Given the description of an element on the screen output the (x, y) to click on. 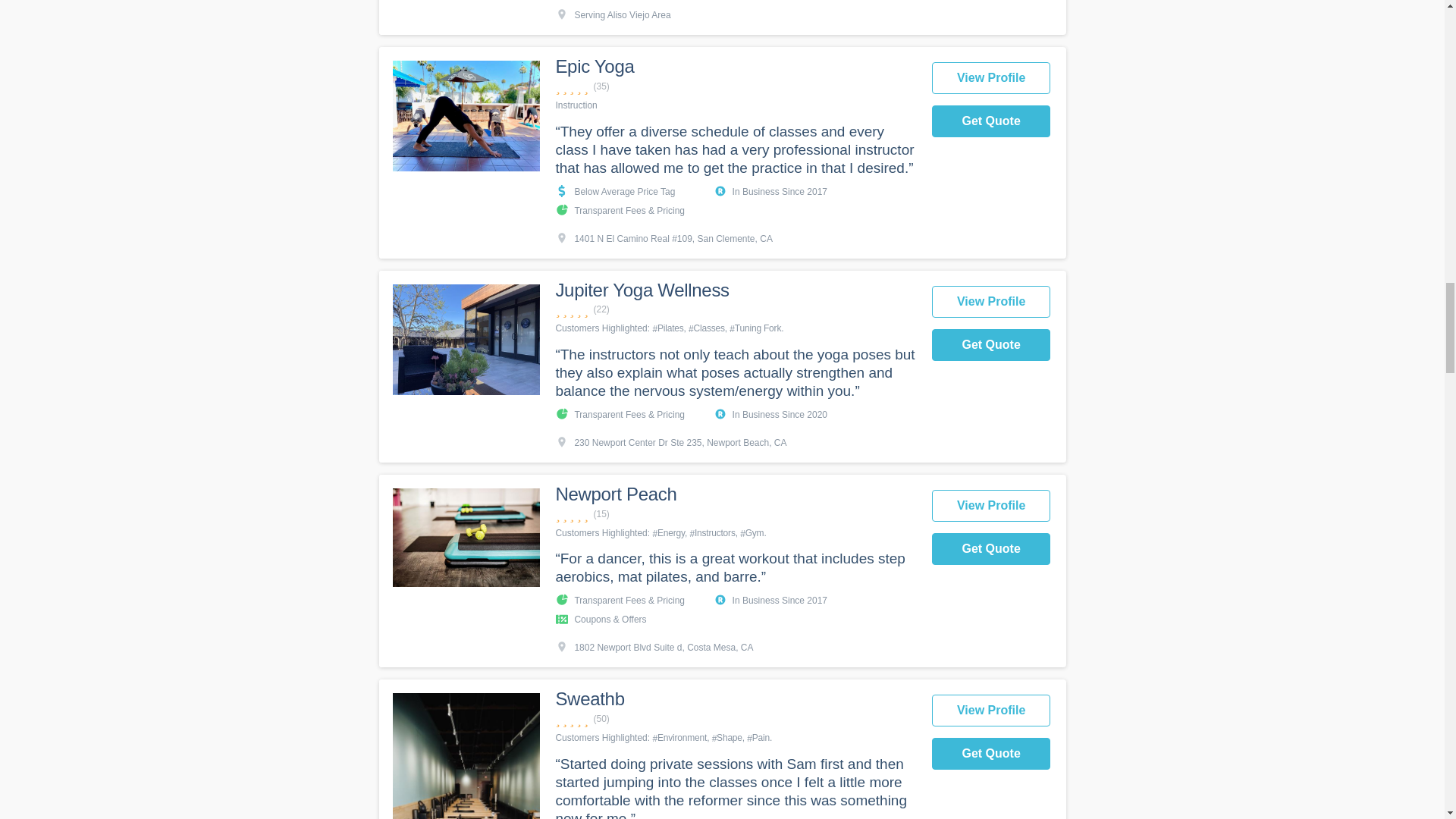
4.8 (734, 513)
4.7 (734, 718)
4.9 (734, 86)
5.0 (734, 309)
